Given the description of an element on the screen output the (x, y) to click on. 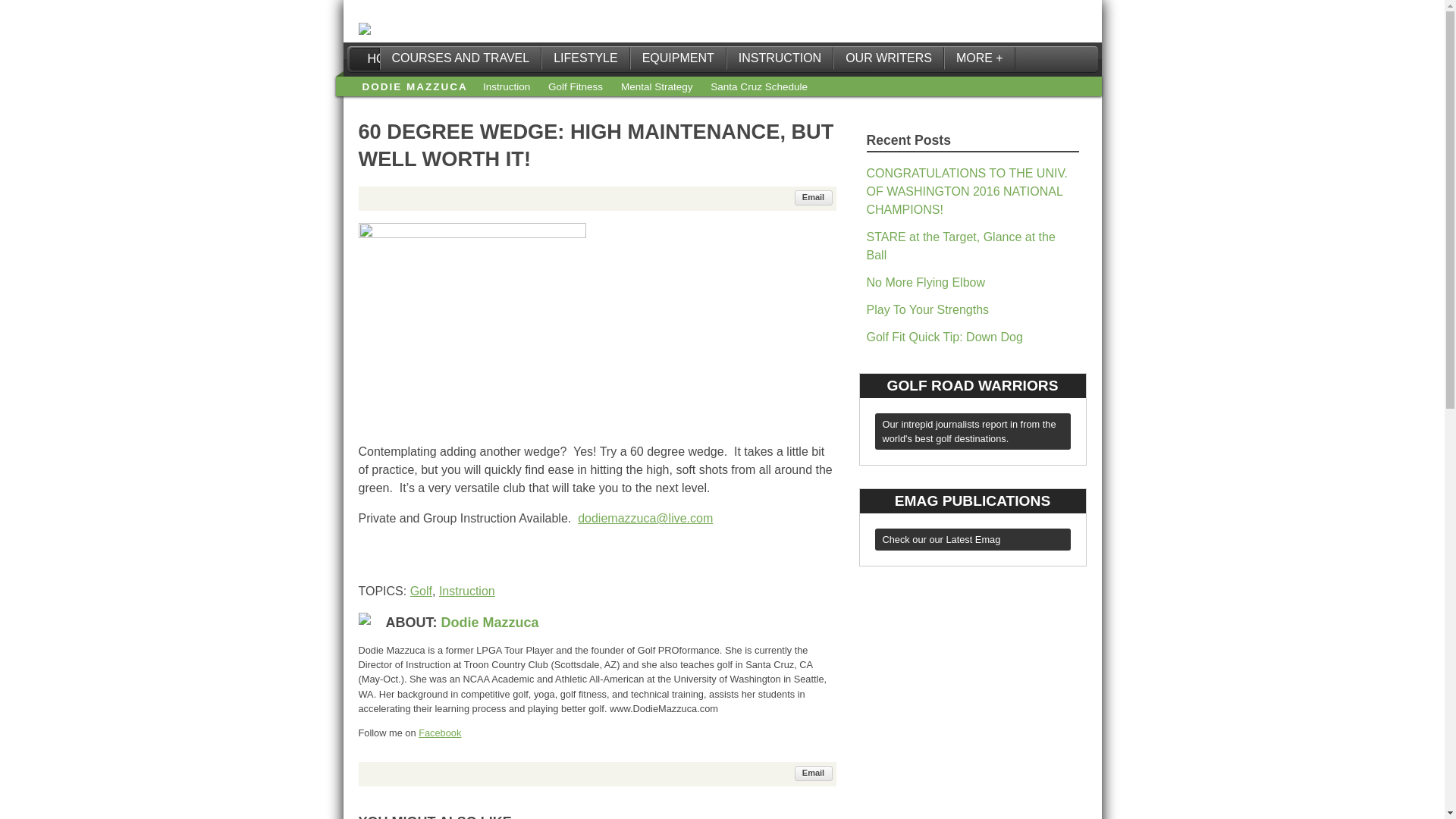
Email (972, 527)
COURSES AND TRAVEL (813, 773)
DODIE MAZZUCA (459, 57)
Email (414, 86)
EQUIPMENT (813, 197)
Dodie Mazzuca (678, 57)
Santa Cruz Schedule (489, 622)
LIFESTYLE (759, 86)
Play To Your Strengths (584, 57)
